Given the description of an element on the screen output the (x, y) to click on. 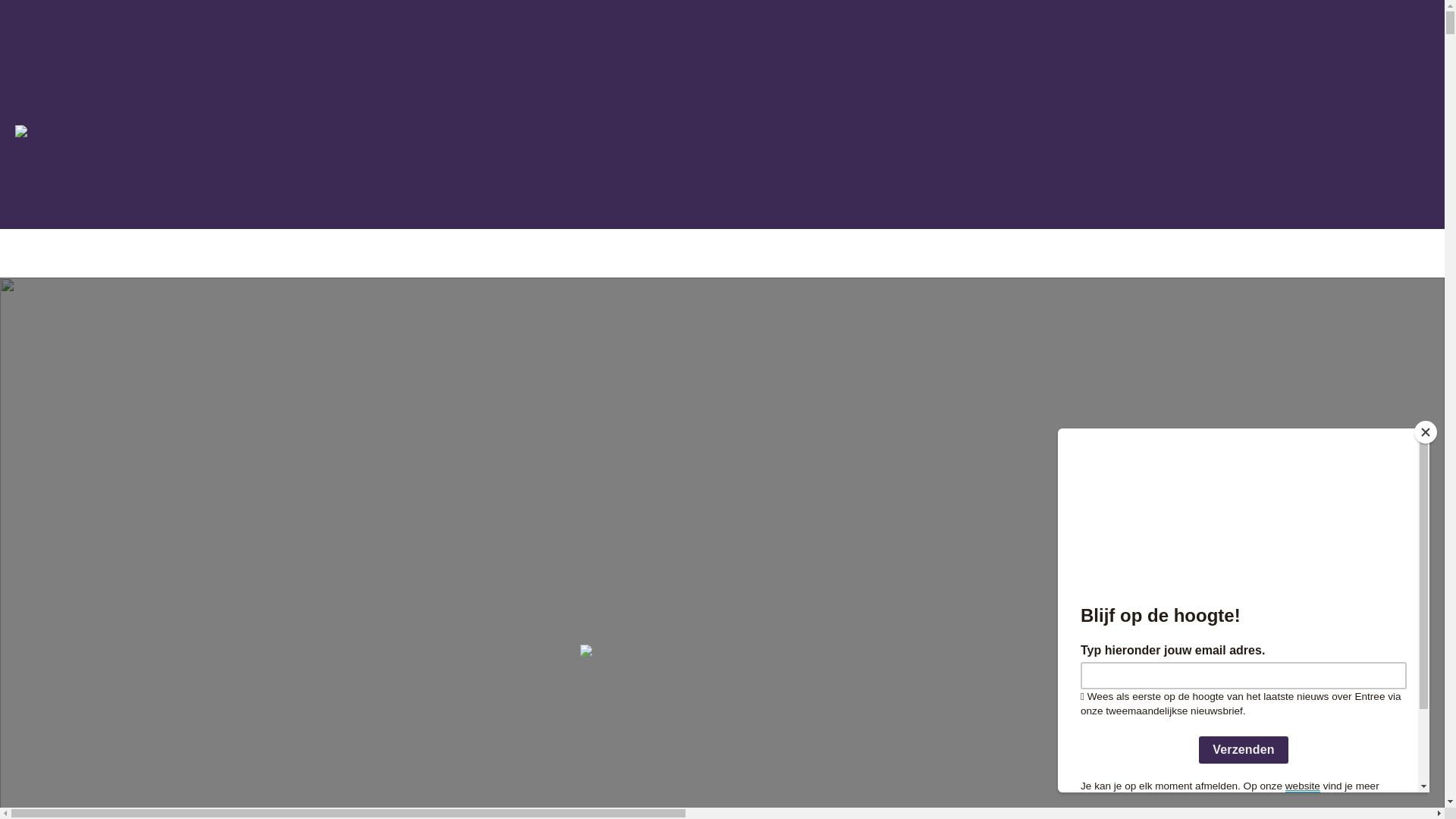
Home Element type: text (307, 336)
Over ons Element type: text (417, 563)
